Given the description of an element on the screen output the (x, y) to click on. 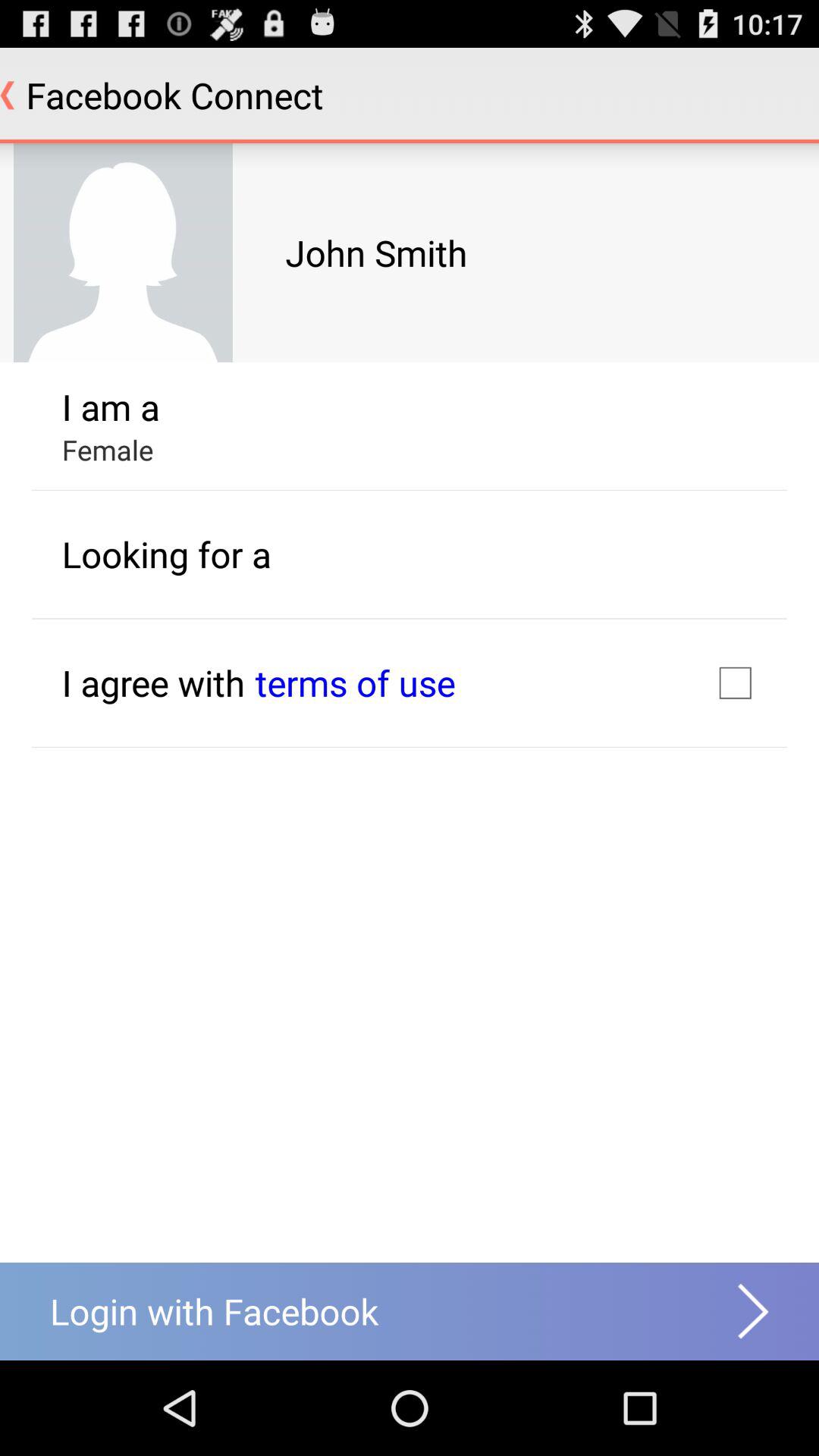
press icon below the looking for a icon (355, 682)
